Given the description of an element on the screen output the (x, y) to click on. 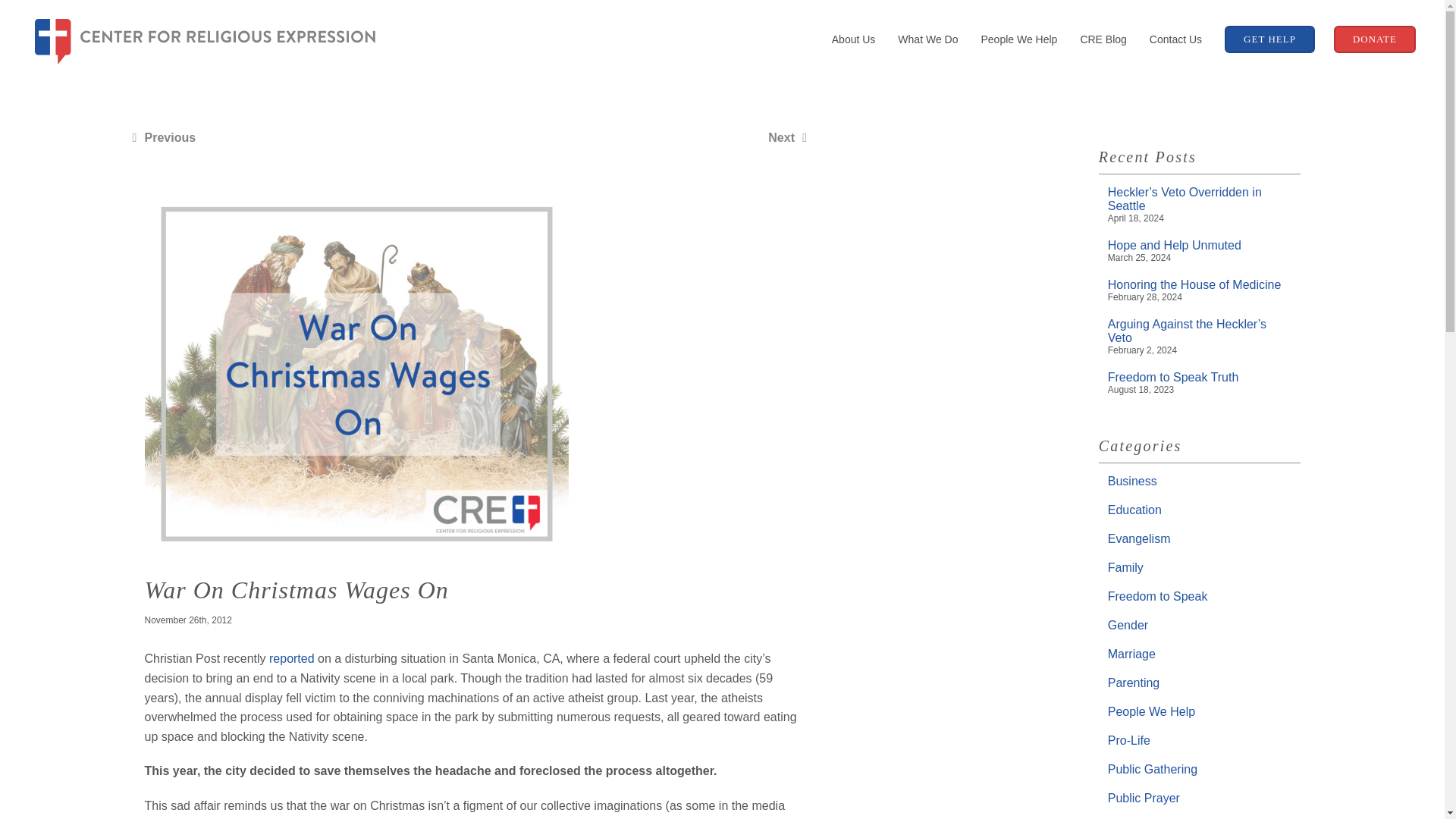
DONATE (1374, 39)
What We Do (928, 39)
GET HELP (1269, 39)
People We Help (1018, 39)
